Given the description of an element on the screen output the (x, y) to click on. 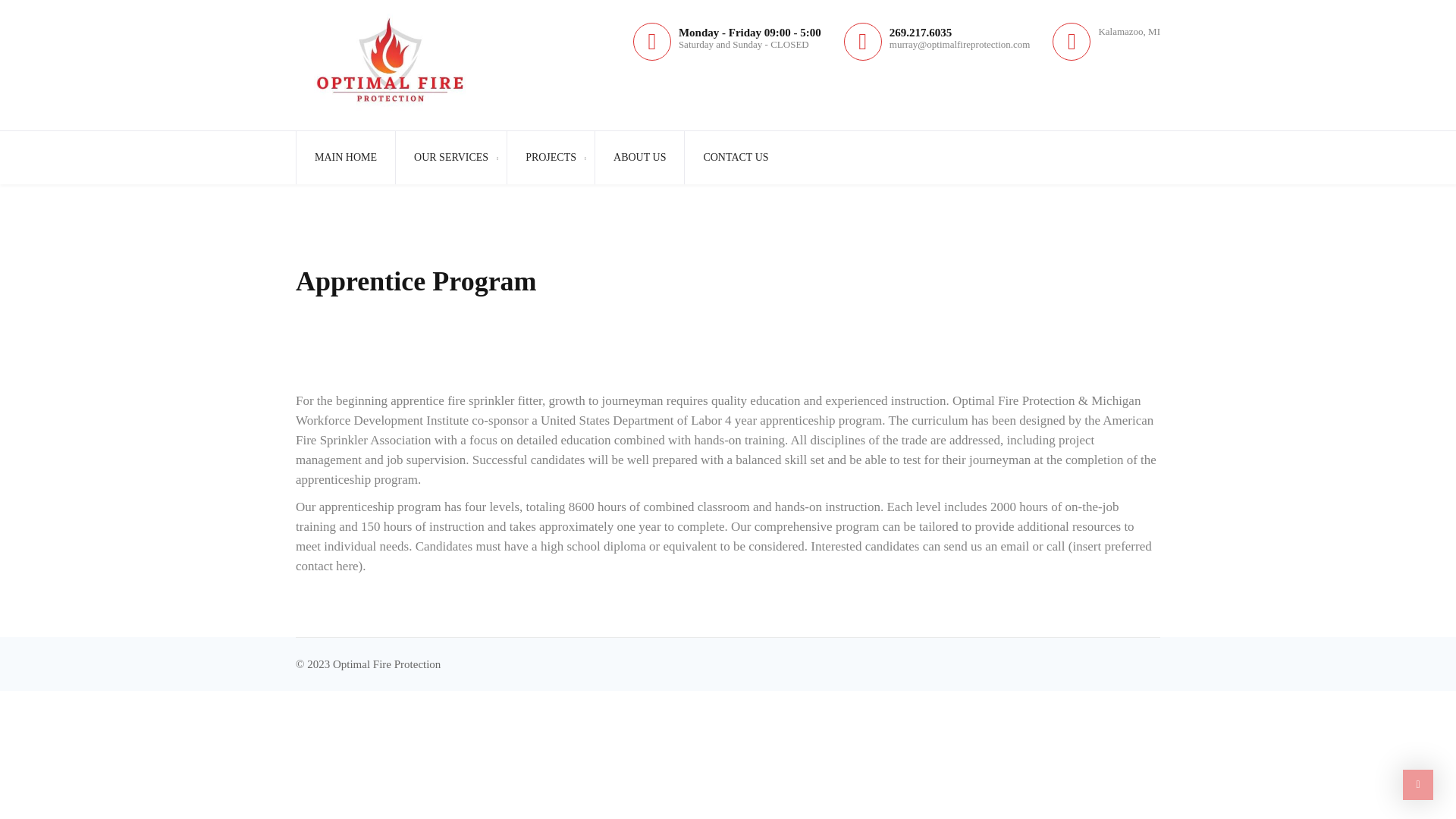
ABOUT US (639, 156)
OUR SERVICES (450, 156)
PROJECTS (550, 156)
CONTACT US (735, 156)
MAIN HOME (344, 156)
